Given the description of an element on the screen output the (x, y) to click on. 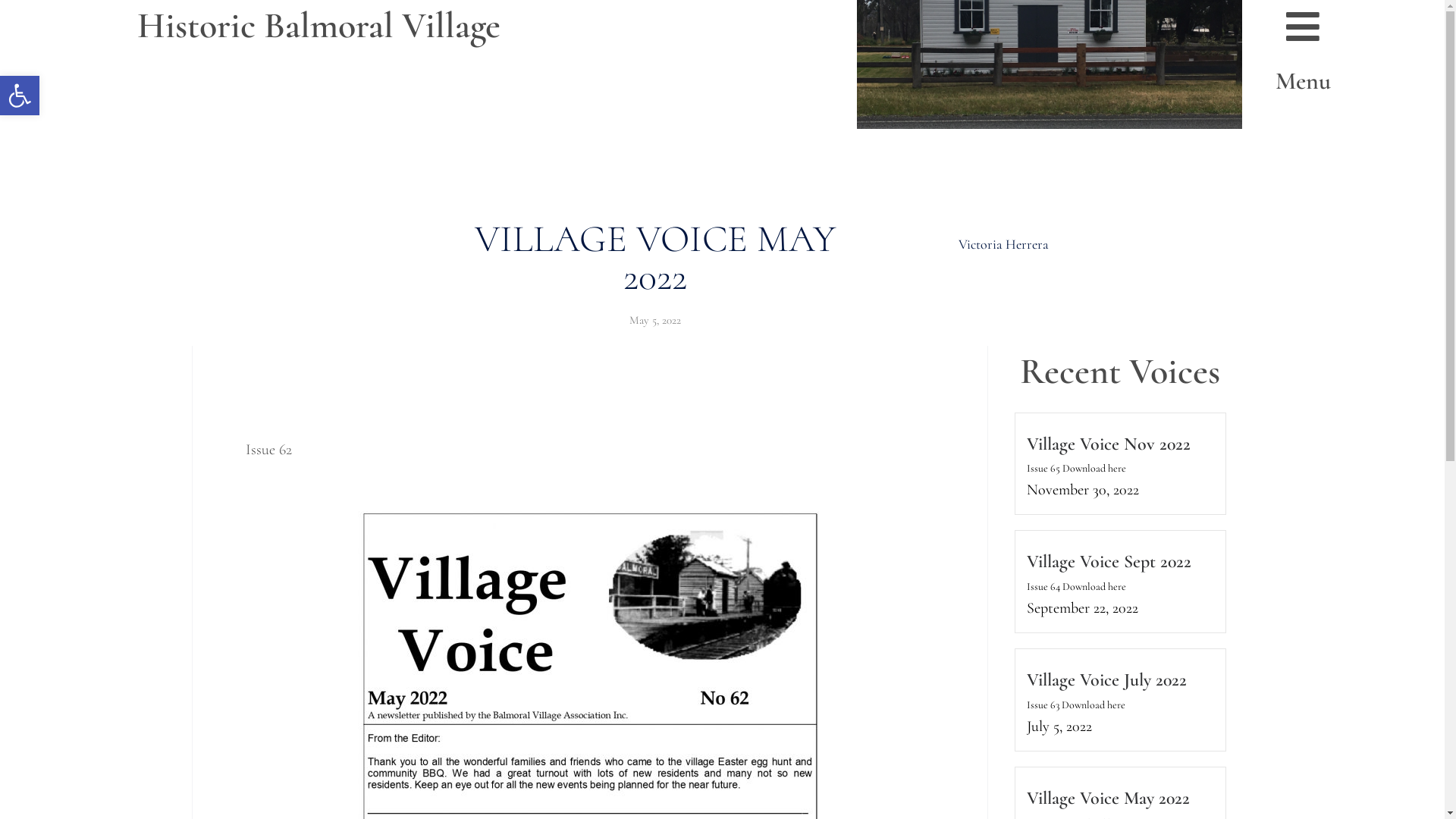
Village Voice Nov 2022 Element type: text (1108, 443)
Menu Element type: text (1302, 80)
May 5, 2022 Element type: text (654, 320)
Village Voice Sept 2022 Element type: text (1108, 561)
Open toolbar Element type: text (19, 95)
Village Voice May 2022 Element type: text (1107, 798)
Village Voice July 2022 Element type: text (1106, 679)
Historic Balmoral Village Element type: text (318, 25)
